Given the description of an element on the screen output the (x, y) to click on. 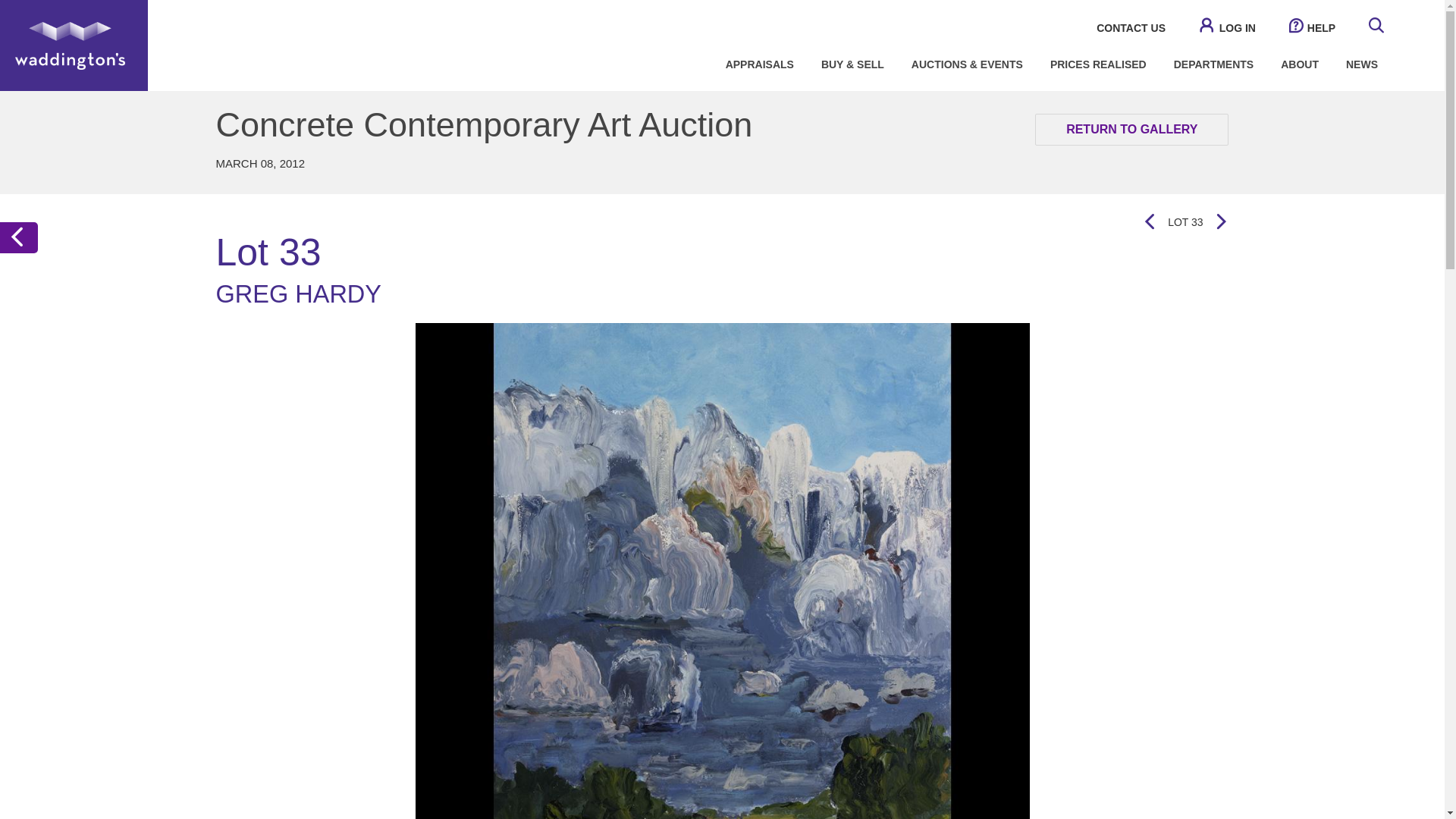
PRICES REALISED (1098, 63)
DEPARTMENTS (1214, 63)
LOG IN (1226, 28)
HELP (1311, 28)
CONTACT US (1131, 28)
APPRAISALS (759, 63)
ABOUT (1299, 63)
